Given the description of an element on the screen output the (x, y) to click on. 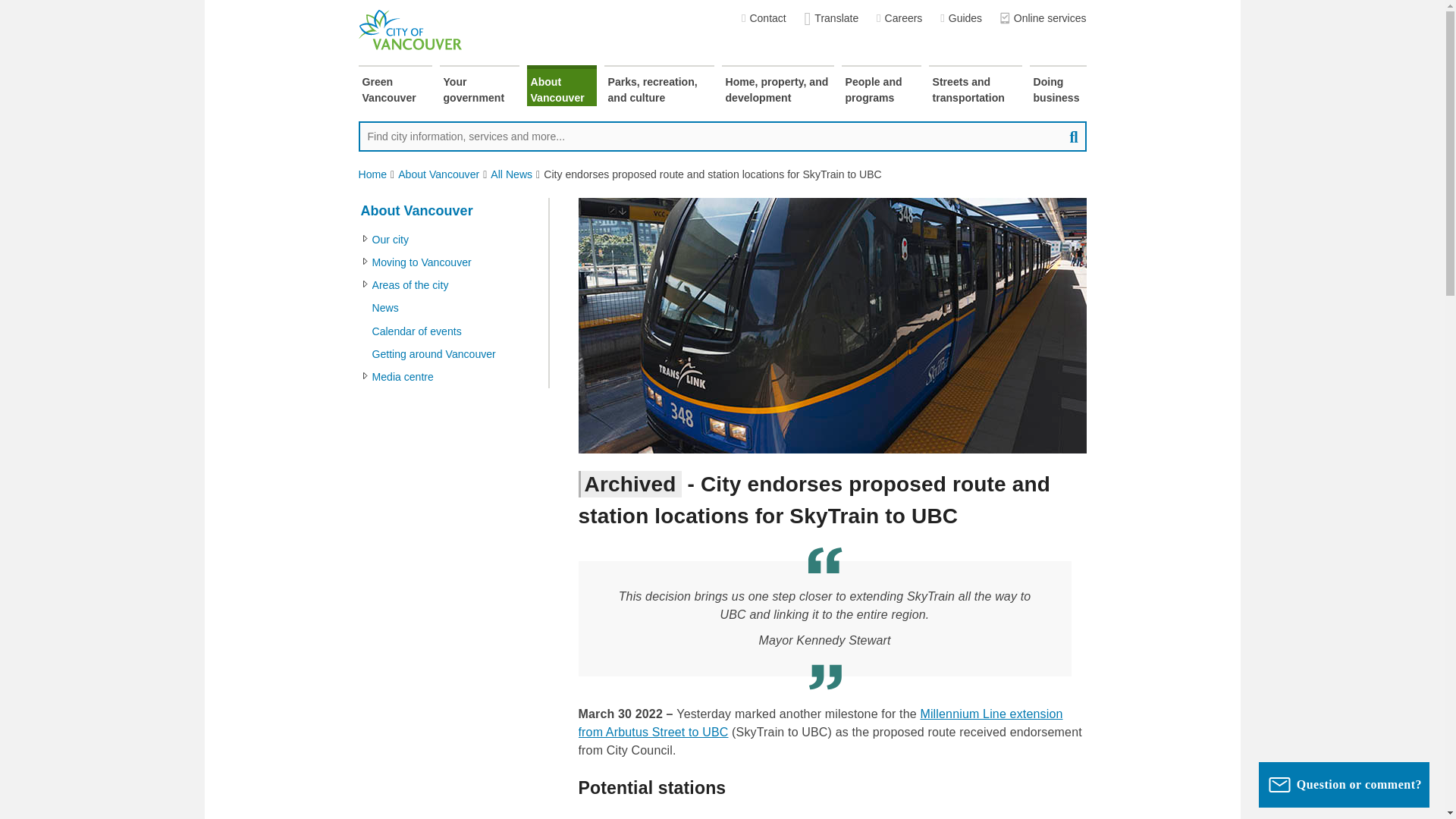
Your government (479, 85)
Home (372, 174)
Doing business (1057, 85)
Guides (960, 18)
About Vancouver (438, 174)
SkyTrain (832, 325)
Contact (763, 18)
Careers (898, 18)
Parks, recreation, and culture (658, 85)
Online services (1043, 18)
Translate (832, 18)
All News (511, 174)
Home, property, and development (778, 85)
About Vancouver (560, 85)
Streets and transportation (975, 85)
